Given the description of an element on the screen output the (x, y) to click on. 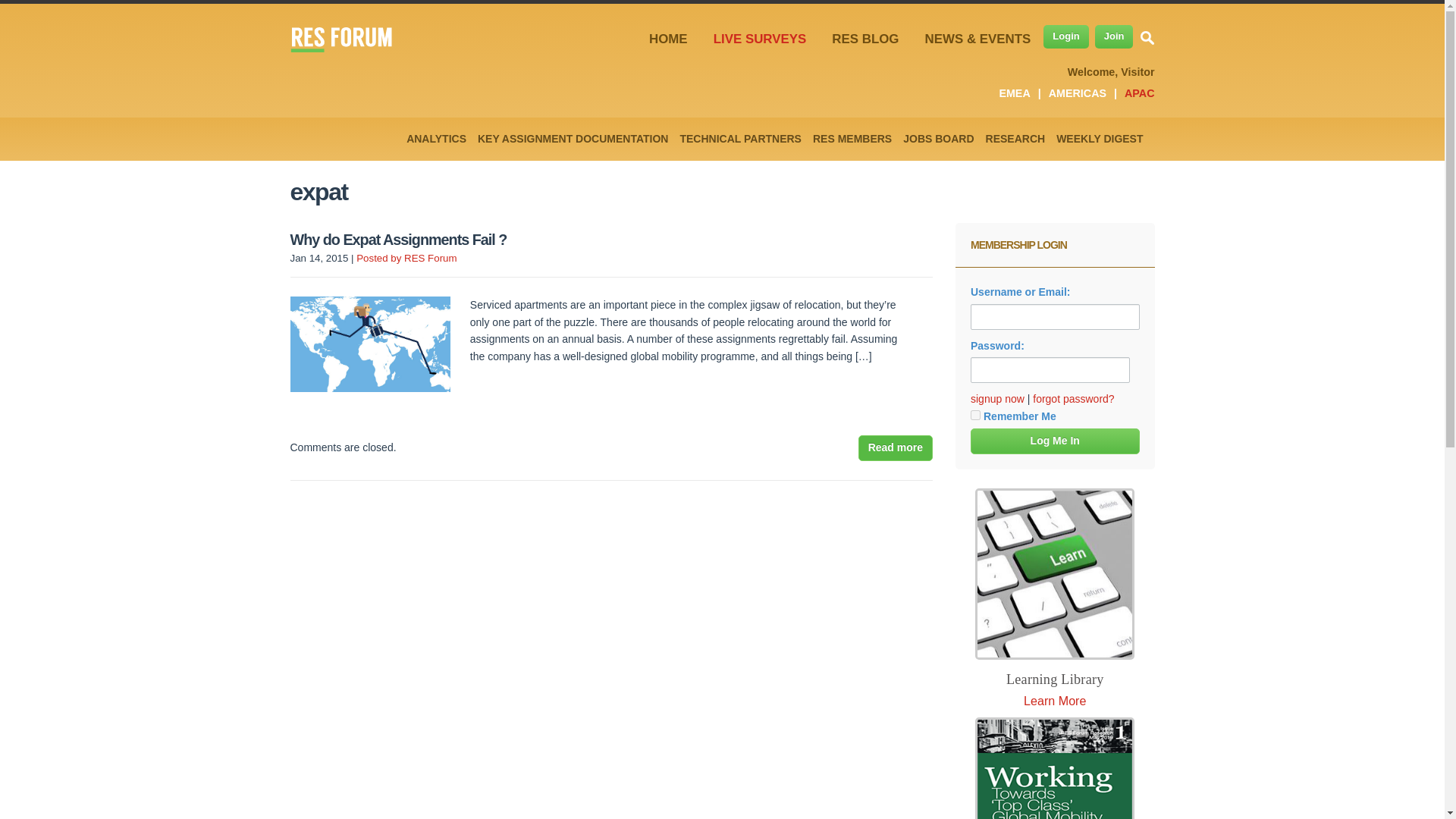
AMERICAS (1077, 92)
Join (1114, 36)
HOME (668, 39)
ANALYTICS (435, 138)
LIVE SURVEYS (759, 39)
Why do Expat Assignments Fail ? (896, 447)
Log Me In (1055, 441)
EMEA (1013, 92)
APAC (1139, 92)
Login (1065, 36)
